Given the description of an element on the screen output the (x, y) to click on. 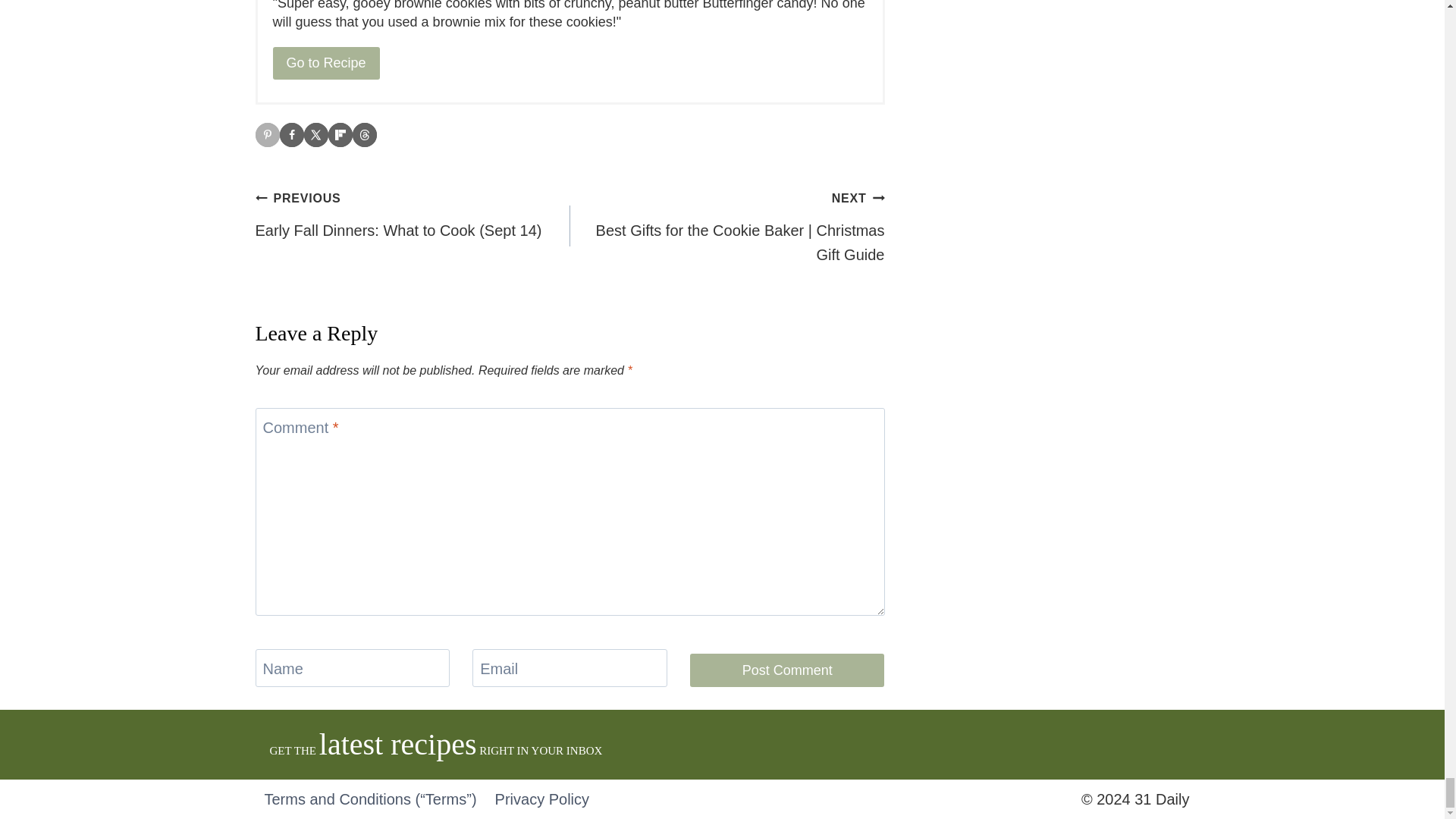
Share on Flipboard (339, 134)
Share on X (314, 134)
Share on Threads (363, 134)
Save to Pinterest (266, 134)
Share on Facebook (290, 134)
Post Comment (787, 669)
